Given the description of an element on the screen output the (x, y) to click on. 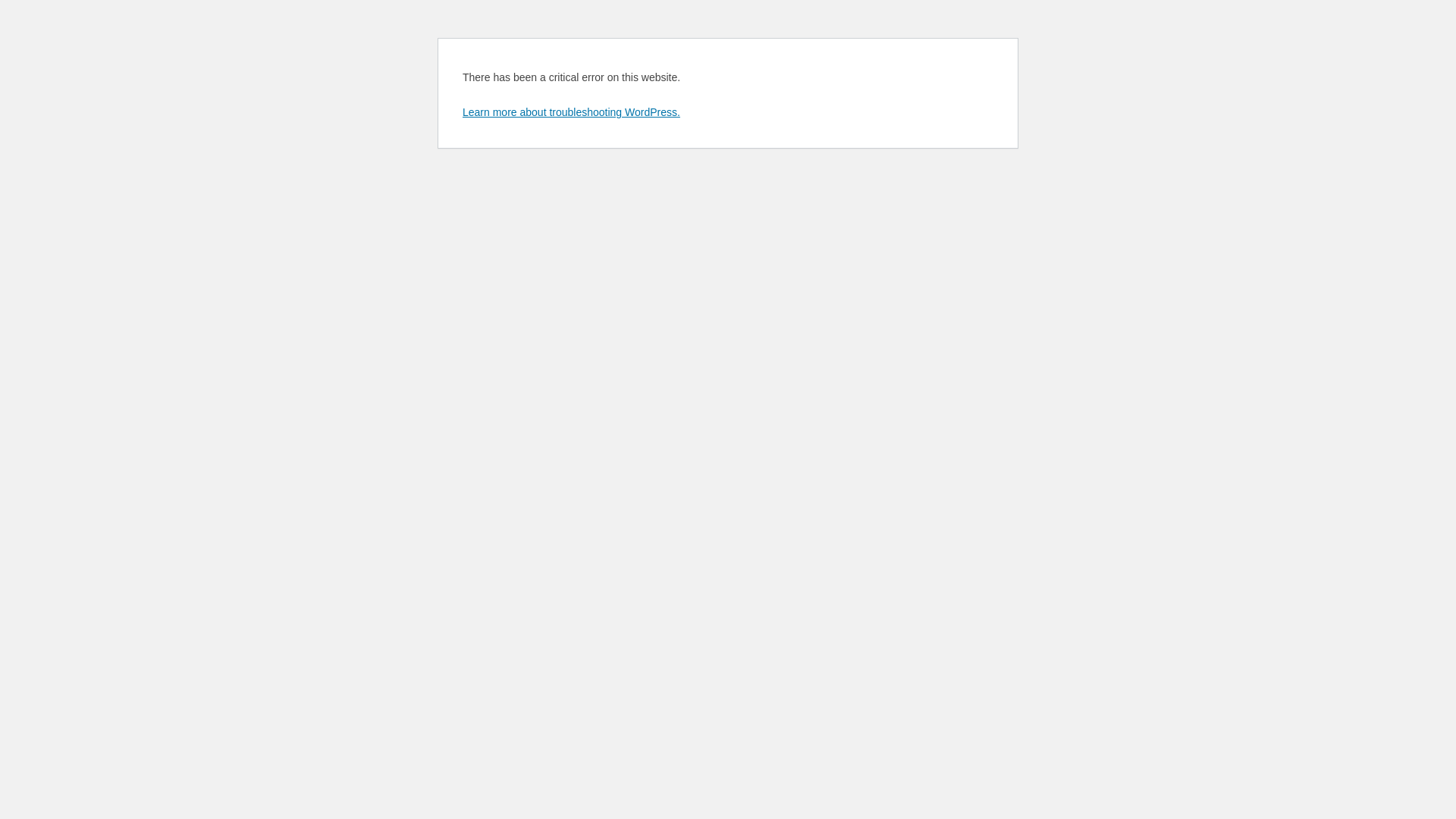
Learn more about troubleshooting WordPress. Element type: text (571, 112)
